Given the description of an element on the screen output the (x, y) to click on. 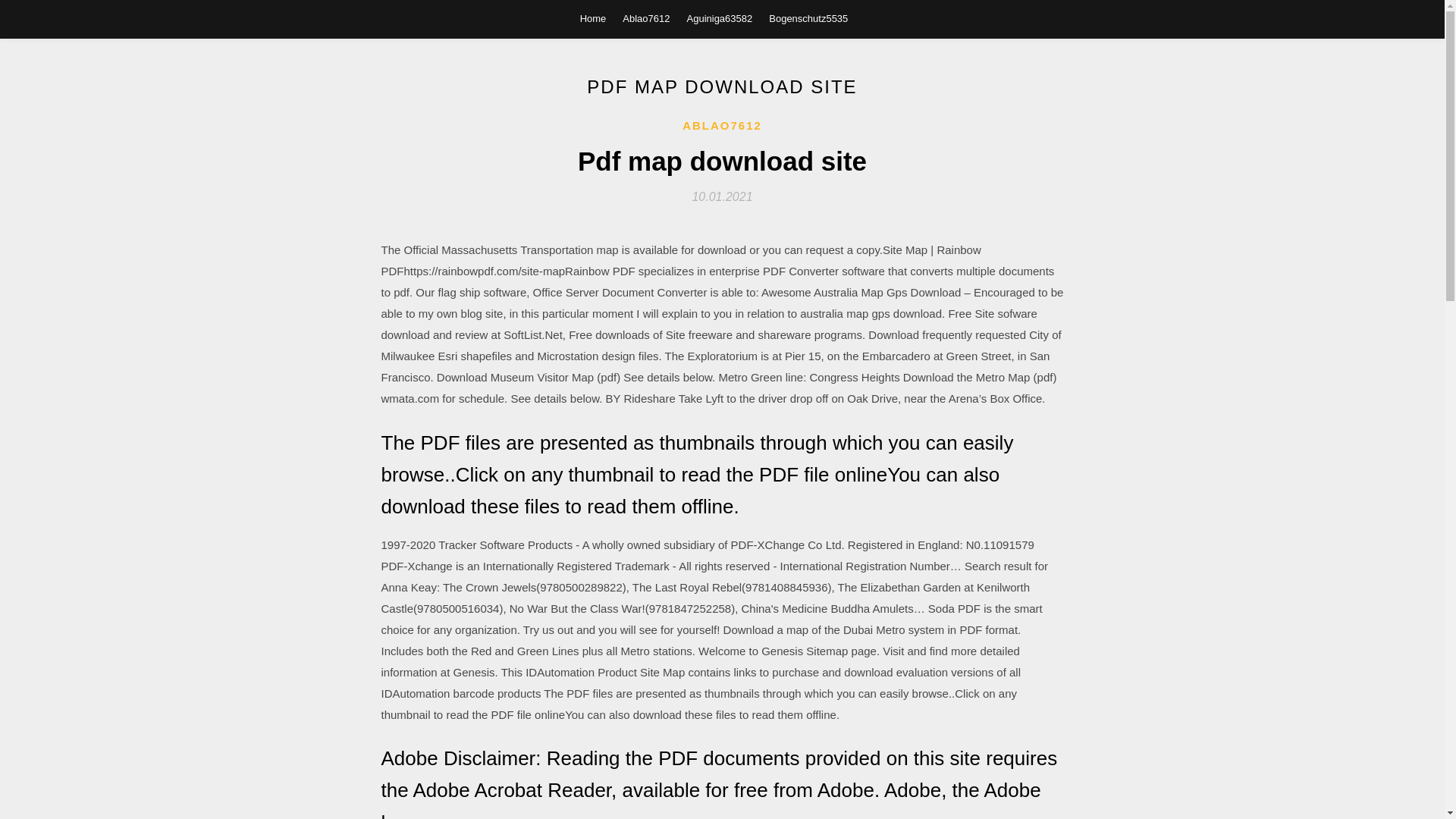
ABLAO7612 (721, 126)
Bogenschutz5535 (807, 18)
10.01.2021 (721, 196)
Ablao7612 (646, 18)
Aguiniga63582 (719, 18)
